Given the description of an element on the screen output the (x, y) to click on. 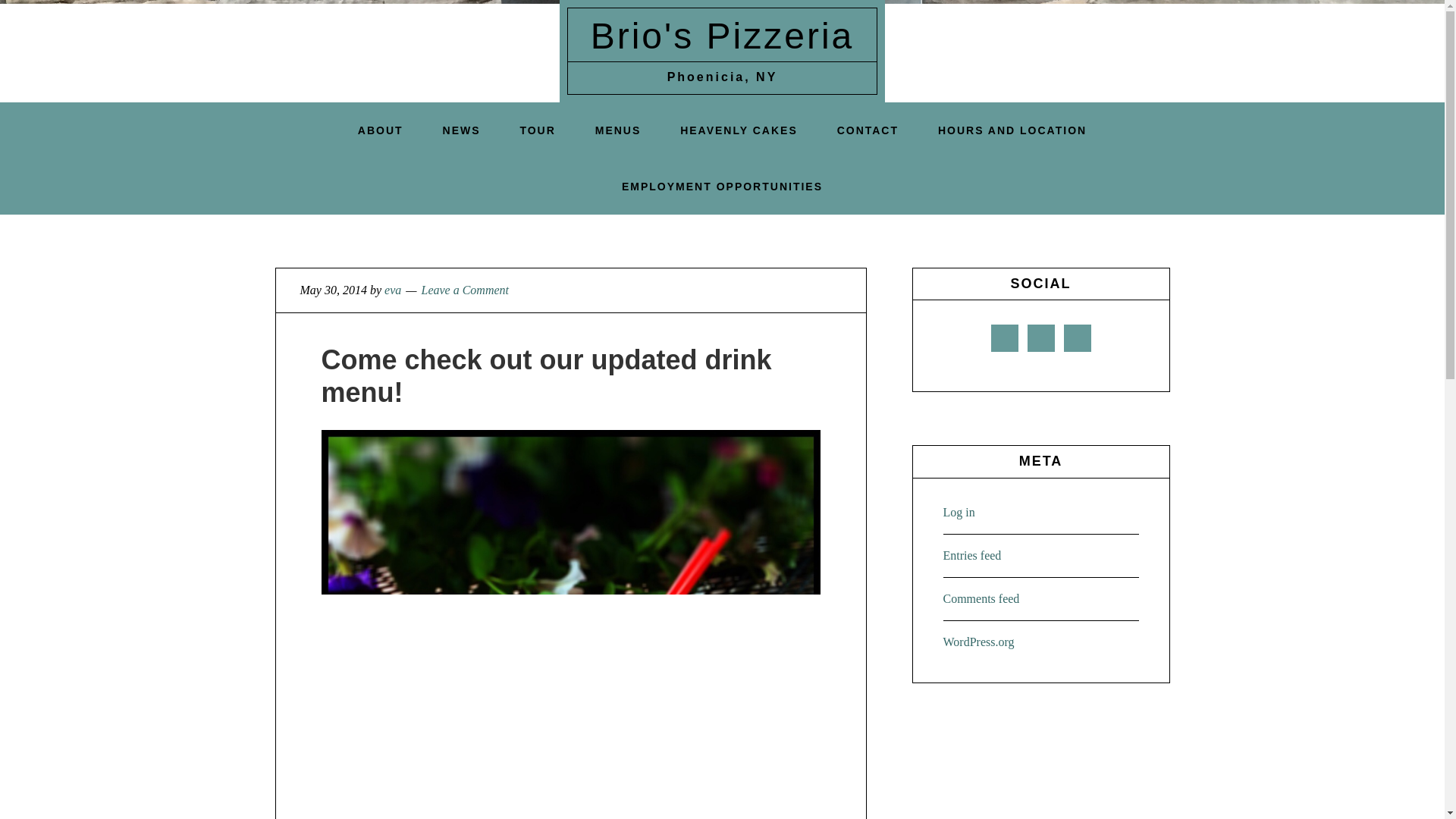
eva (392, 289)
CONTACT (867, 130)
Entries feed (972, 554)
EMPLOYMENT OPPORTUNITIES (722, 186)
Come check out our updated drink menu! (546, 375)
Comments feed (981, 598)
TOUR (536, 130)
Leave a Comment (464, 289)
HEAVENLY CAKES (738, 130)
Log in (959, 512)
ABOUT (380, 130)
Brio's Pizzeria (722, 35)
NEWS (462, 130)
MENUS (617, 130)
HOURS AND LOCATION (1012, 130)
